Given the description of an element on the screen output the (x, y) to click on. 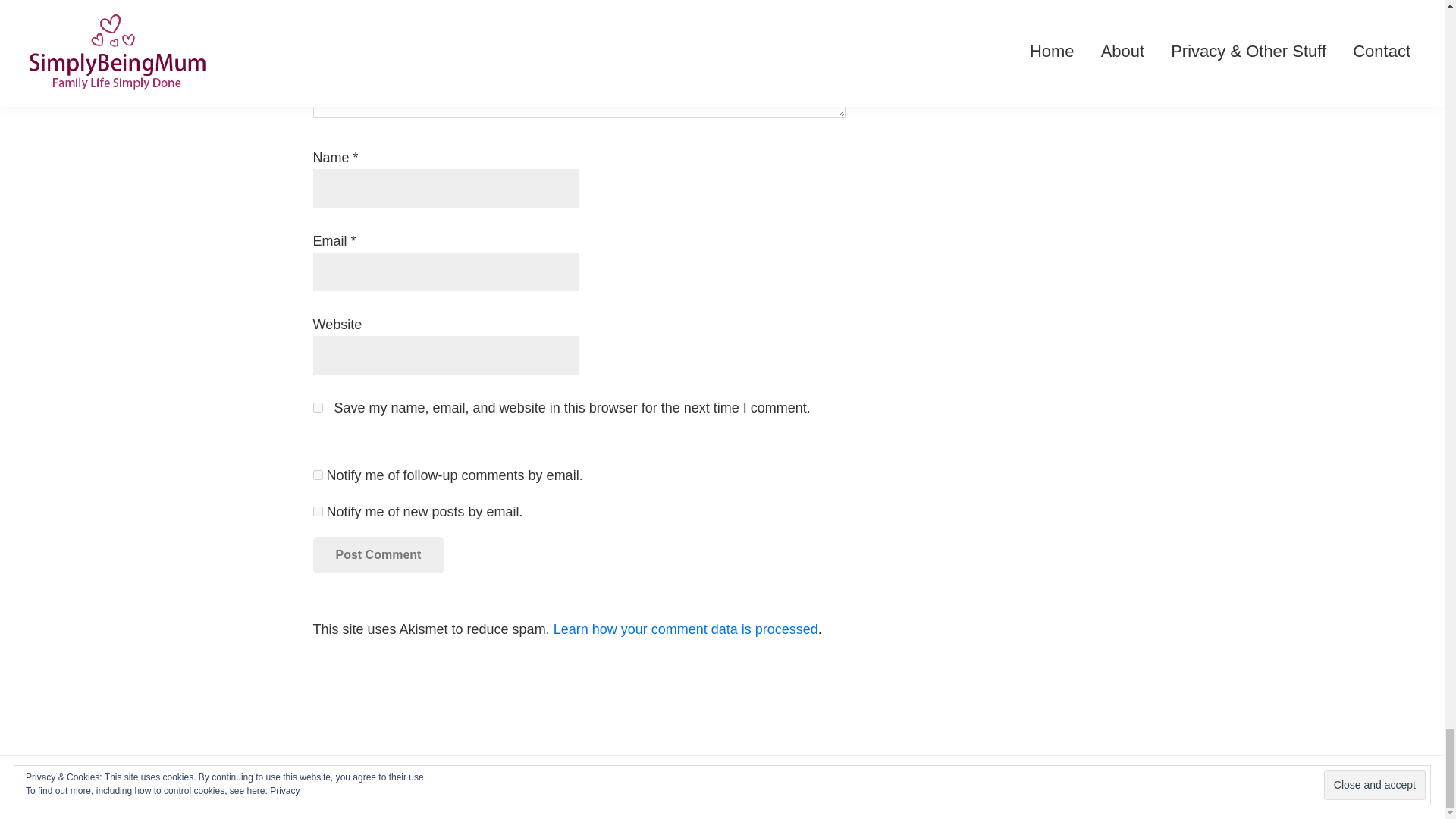
subscribe (317, 474)
yes (317, 407)
Post Comment (378, 555)
subscribe (317, 510)
